Given the description of an element on the screen output the (x, y) to click on. 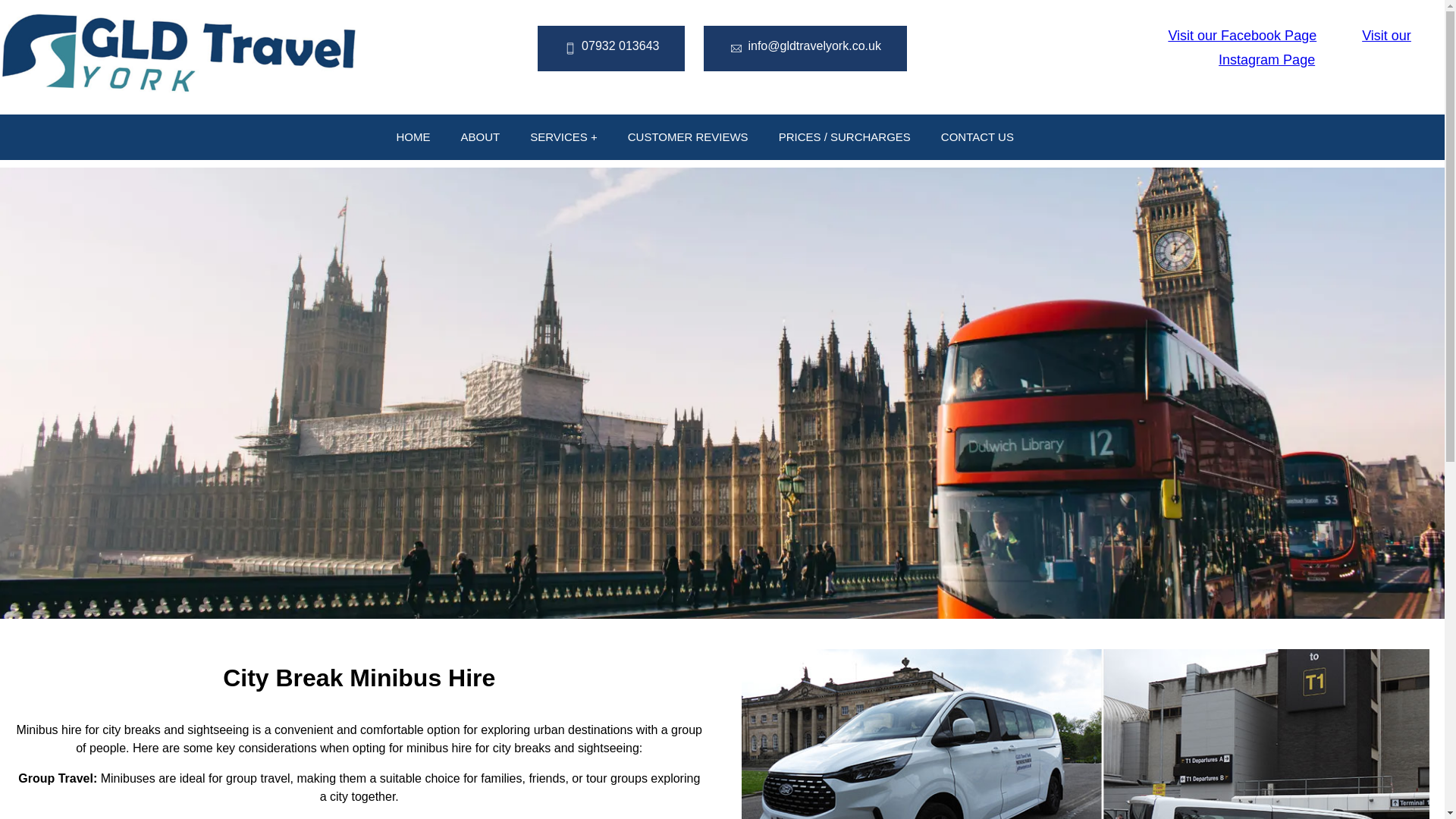
ABOUT (480, 136)
CUSTOMER REVIEWS (687, 136)
07932 013643 (611, 45)
07932 013643 (610, 48)
GLD Travel York (177, 57)
GLD Travel York Minibus (1085, 734)
Visit our Instagram Page (1314, 47)
SERVICES (563, 136)
Visit our Facebook Page (1219, 35)
HOME (412, 136)
